Given the description of an element on the screen output the (x, y) to click on. 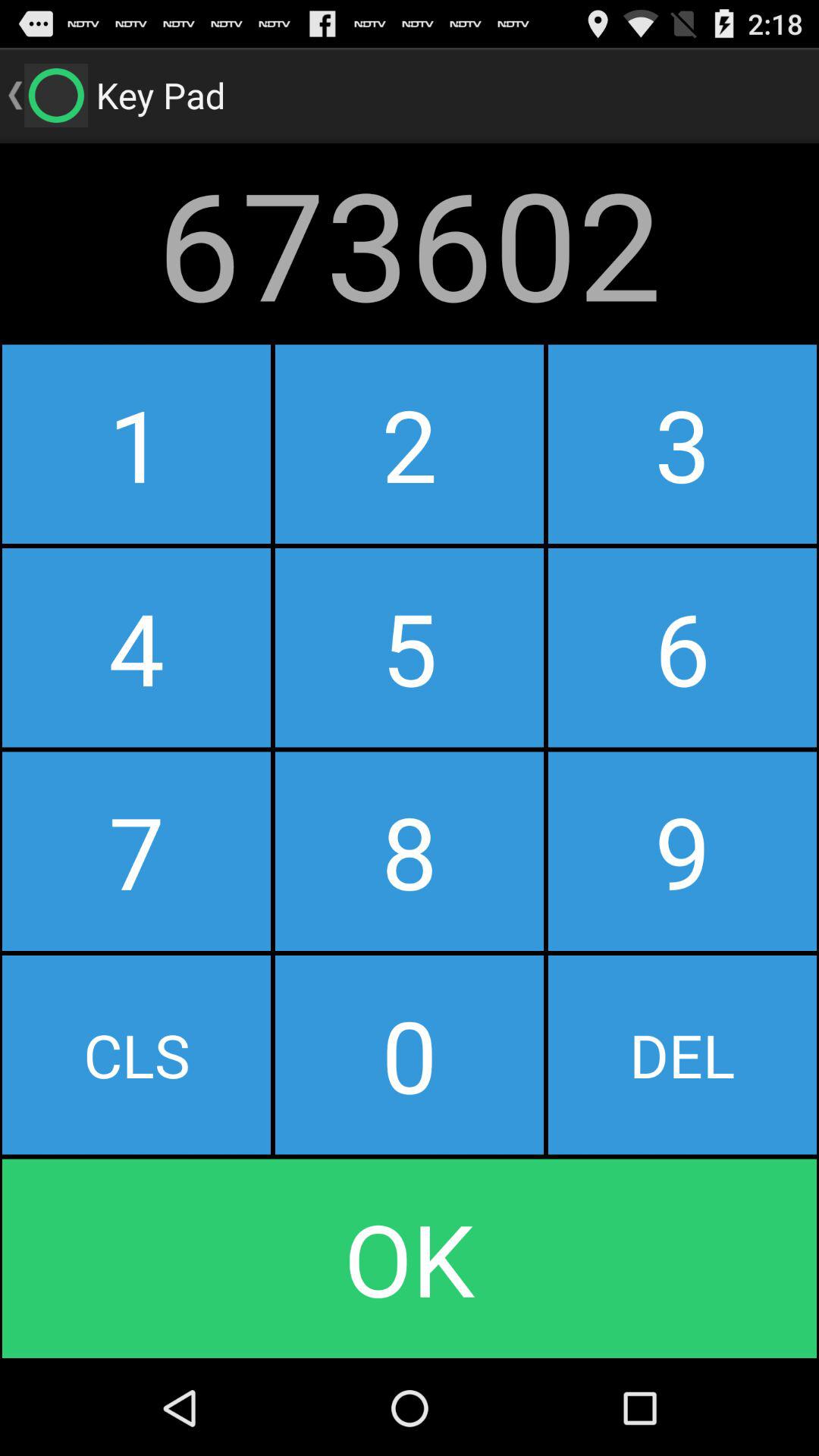
tap the button to the left of 3 icon (409, 647)
